Given the description of an element on the screen output the (x, y) to click on. 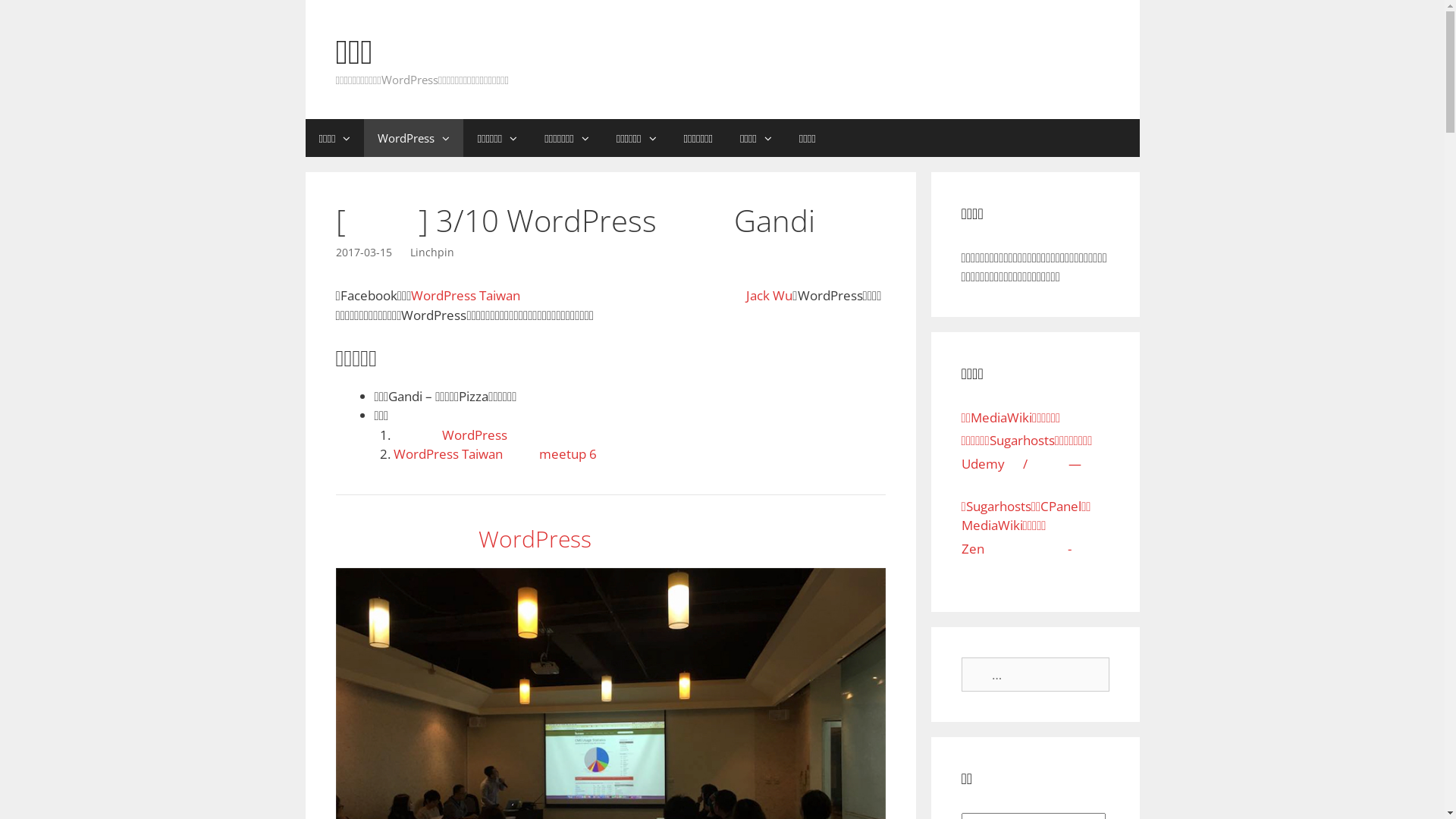
2017-03-15 Element type: text (363, 251)
Linchpin Element type: text (431, 251)
WordPress Element type: text (413, 137)
